Given the description of an element on the screen output the (x, y) to click on. 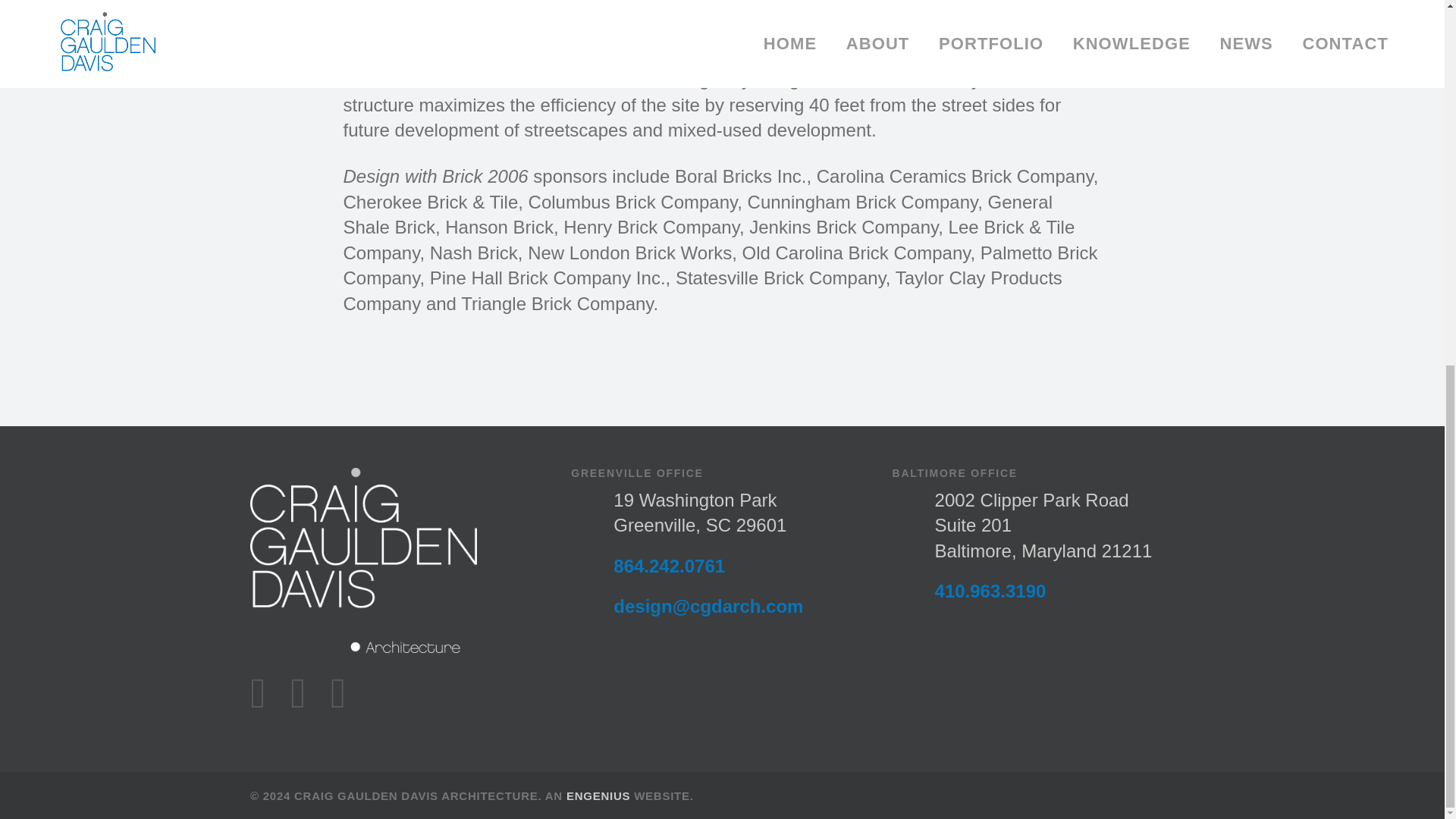
410.963.3190 (990, 590)
ENGENIUS (598, 795)
864.242.0761 (668, 566)
